Given the description of an element on the screen output the (x, y) to click on. 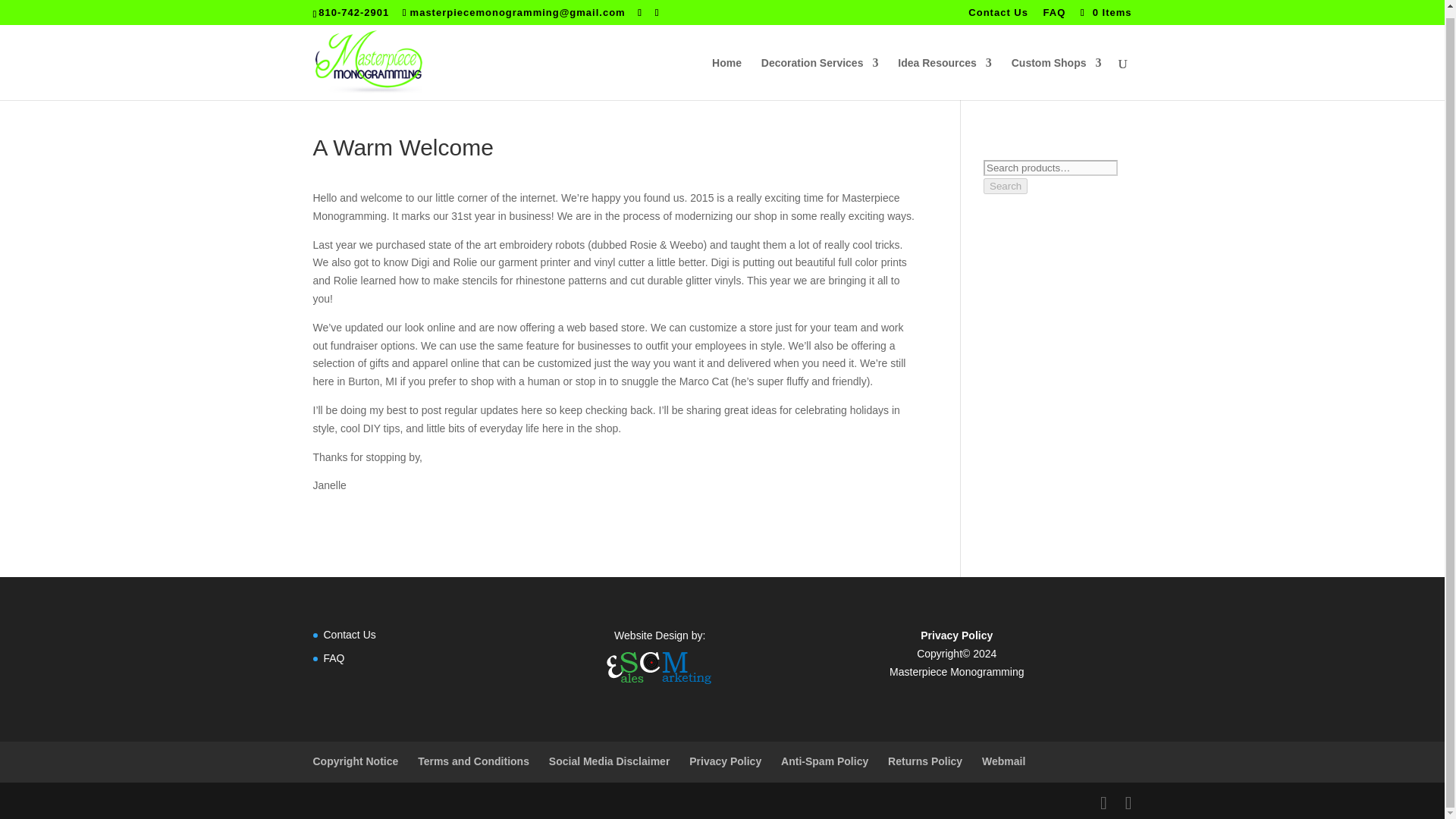
FAQ (333, 657)
Search (1005, 186)
0 Items (1104, 5)
FAQ (1054, 9)
Contact Us (997, 9)
Marketing Implementation  (659, 686)
Web Development by ESCMI (659, 667)
Decoration Services (820, 71)
Contact Us (349, 634)
Custom Shops (1056, 71)
